Given the description of an element on the screen output the (x, y) to click on. 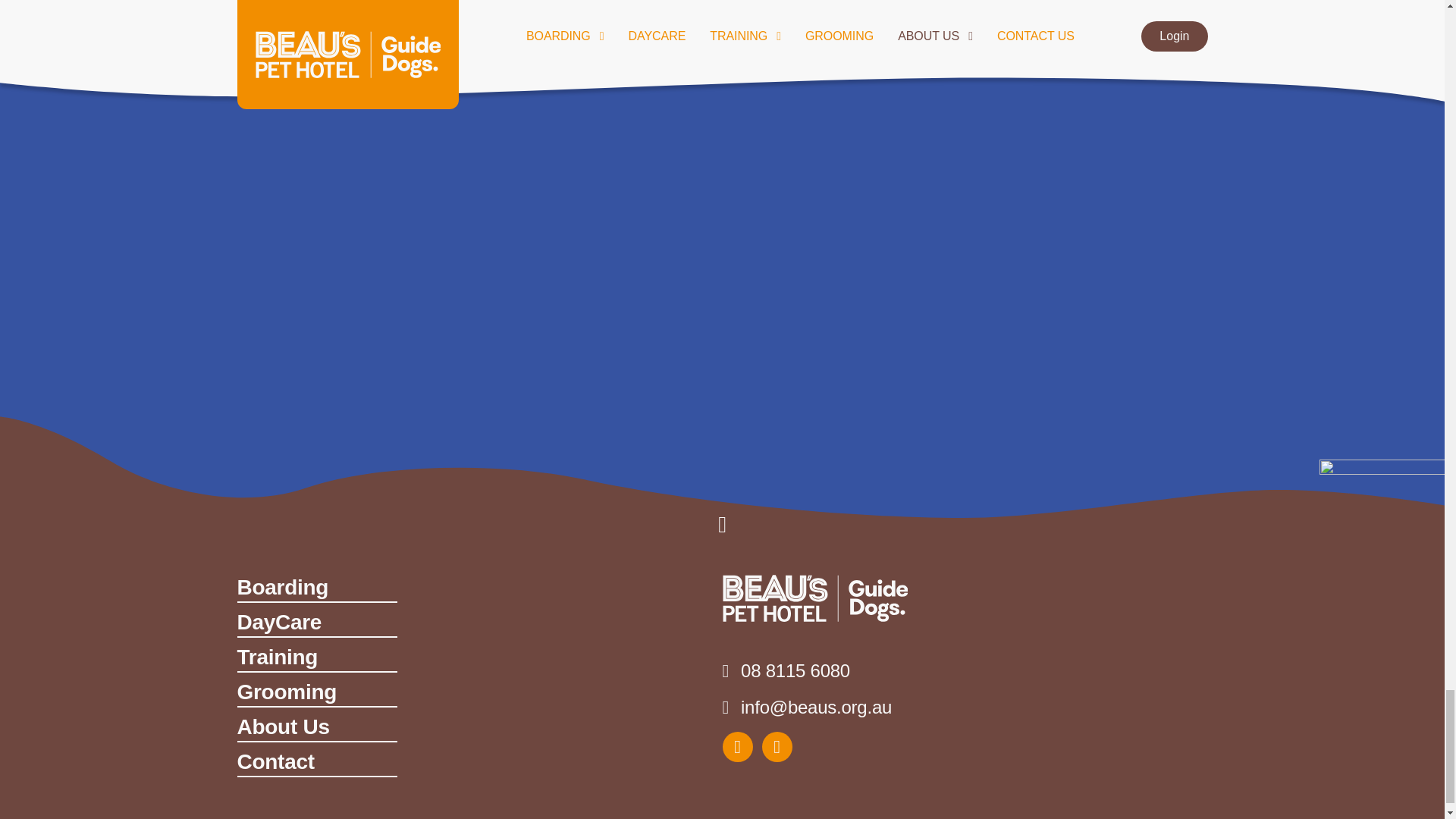
08 8115 6080 (806, 671)
DayCare (315, 623)
Privacy Policy (967, 816)
Grooming (315, 692)
Training (315, 657)
Boarding (315, 588)
About Us (315, 727)
Contact (315, 762)
